Given the description of an element on the screen output the (x, y) to click on. 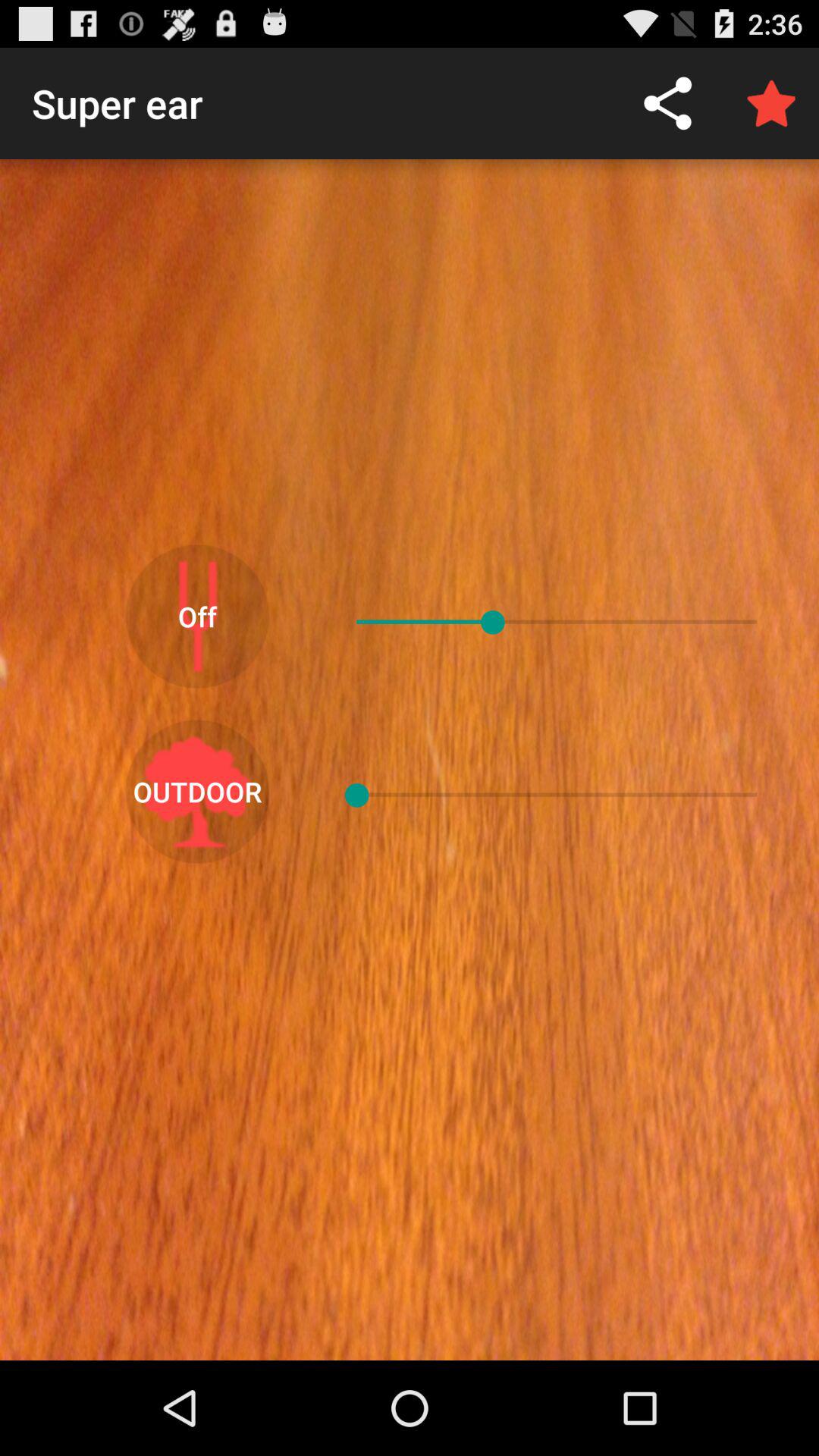
press item above outdoor icon (196, 616)
